Given the description of an element on the screen output the (x, y) to click on. 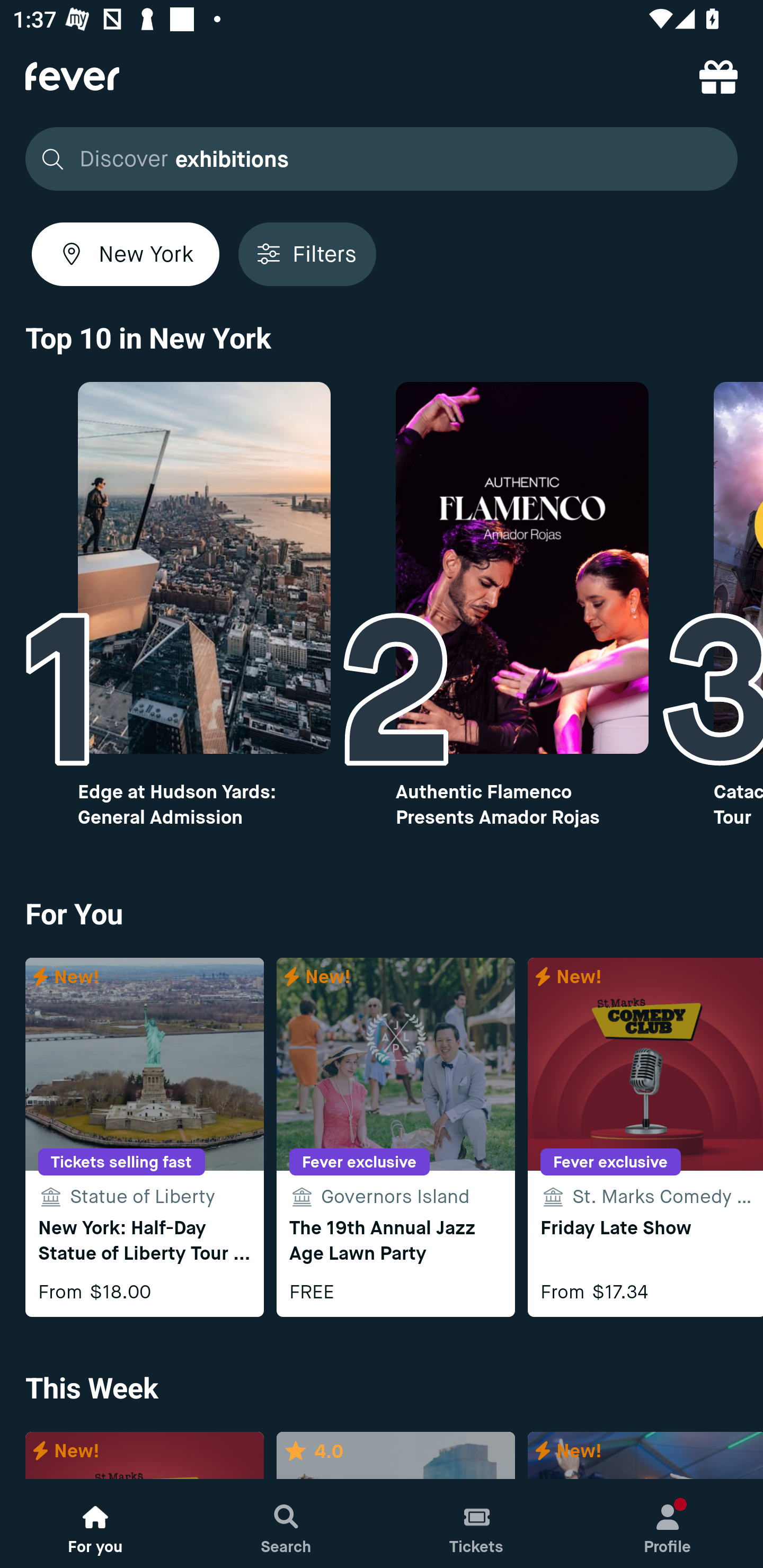
referral (718, 75)
Discover exhibitions (381, 158)
Discover exhibitions (376, 158)
New York (125, 253)
Filters (307, 253)
Top10 image (203, 568)
Top10 image (521, 568)
Search (285, 1523)
Tickets (476, 1523)
Profile, New notification Profile (667, 1523)
